Given the description of an element on the screen output the (x, y) to click on. 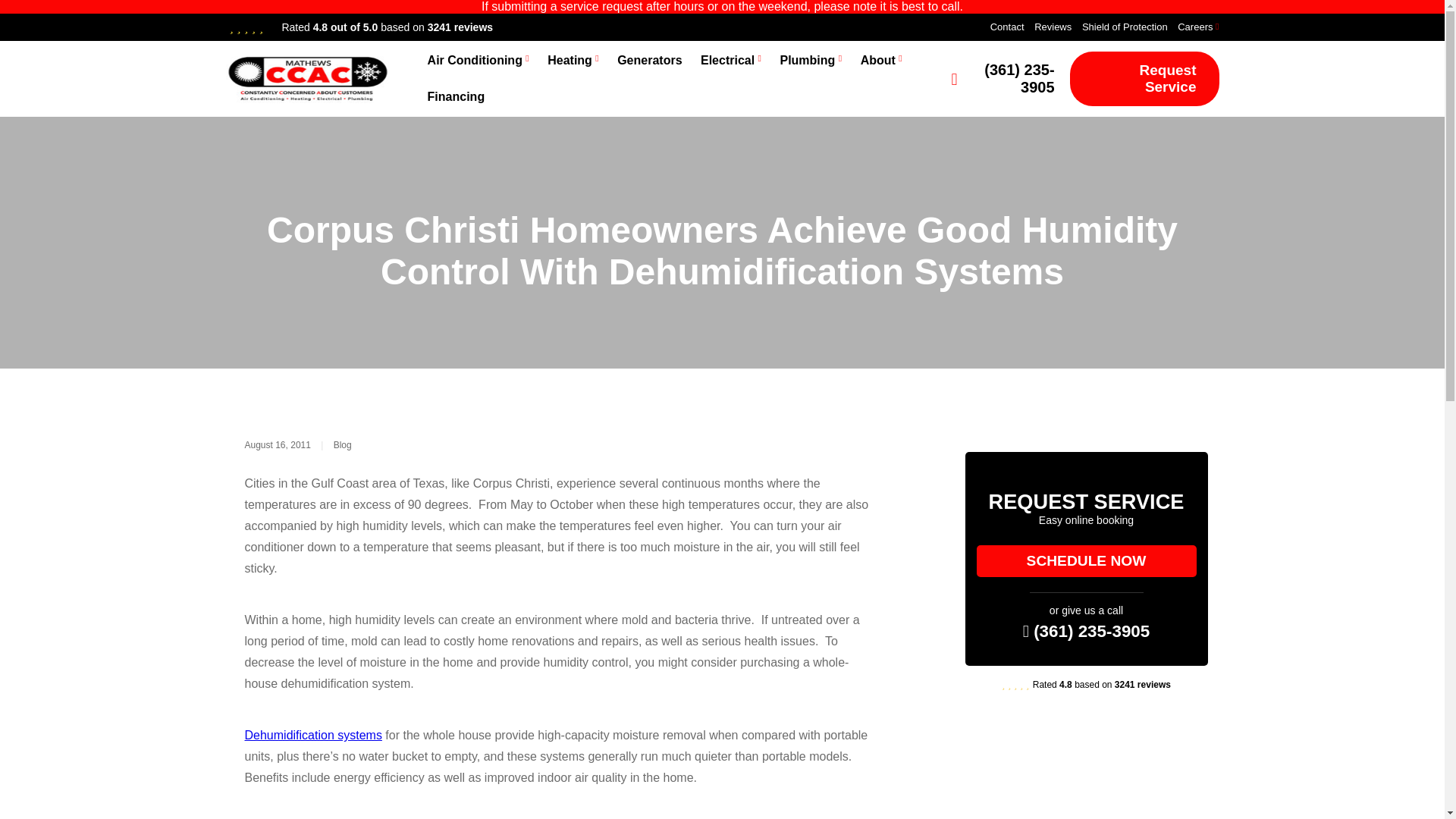
Electrical (727, 60)
Careers (1194, 26)
Shield of Protection (1124, 26)
Plumbing (806, 60)
Air Conditioning (475, 60)
Generators (649, 60)
Contact (1007, 26)
Heating (569, 60)
Reviews (1052, 26)
